Given the description of an element on the screen output the (x, y) to click on. 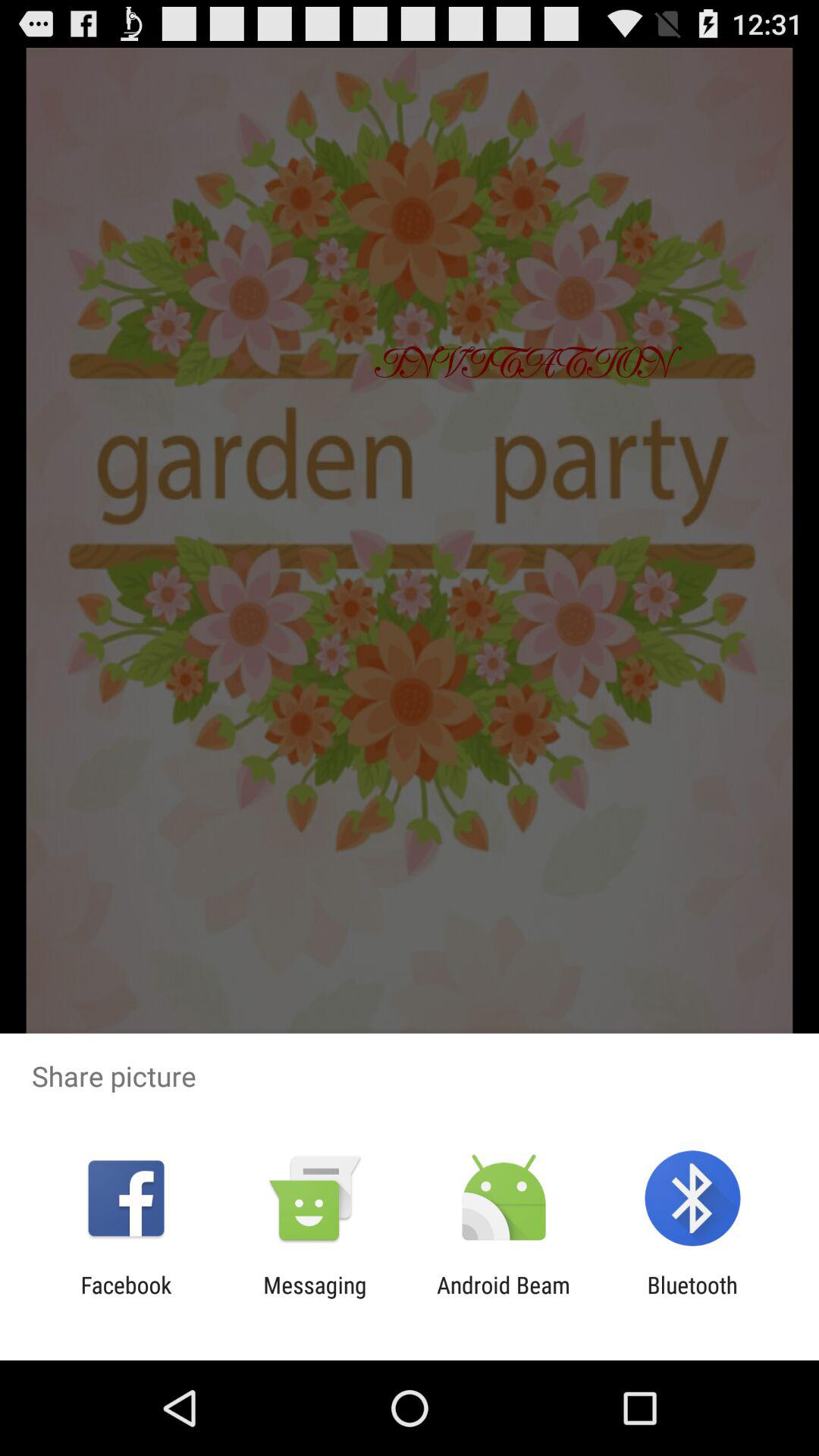
tap the item next to the android beam app (692, 1298)
